Given the description of an element on the screen output the (x, y) to click on. 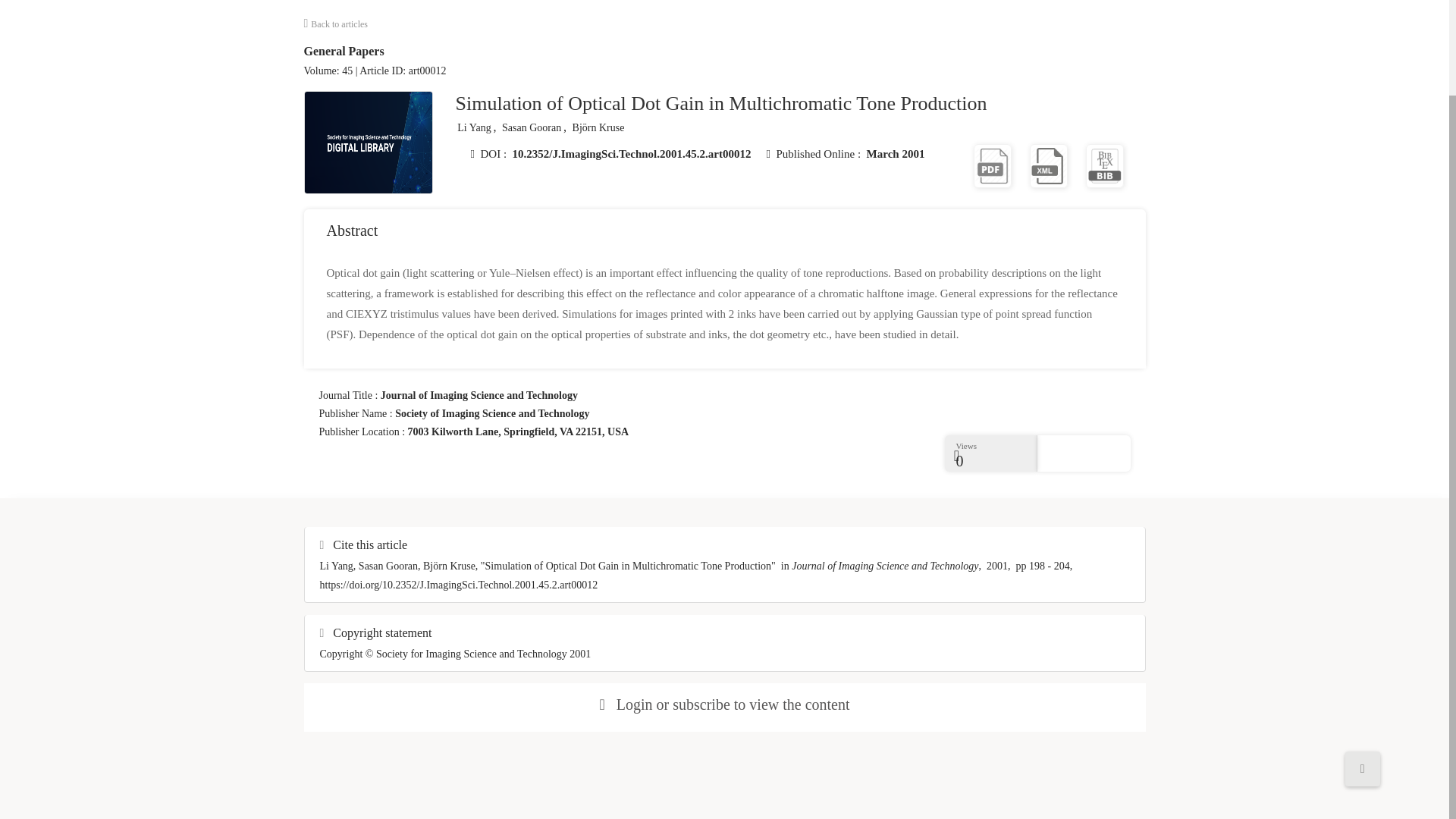
Subscribe to download (1105, 164)
Subscribe to download (992, 164)
Subscribe to download (1048, 164)
No article cover image (368, 142)
subscribe (701, 704)
Login (633, 704)
